Given the description of an element on the screen output the (x, y) to click on. 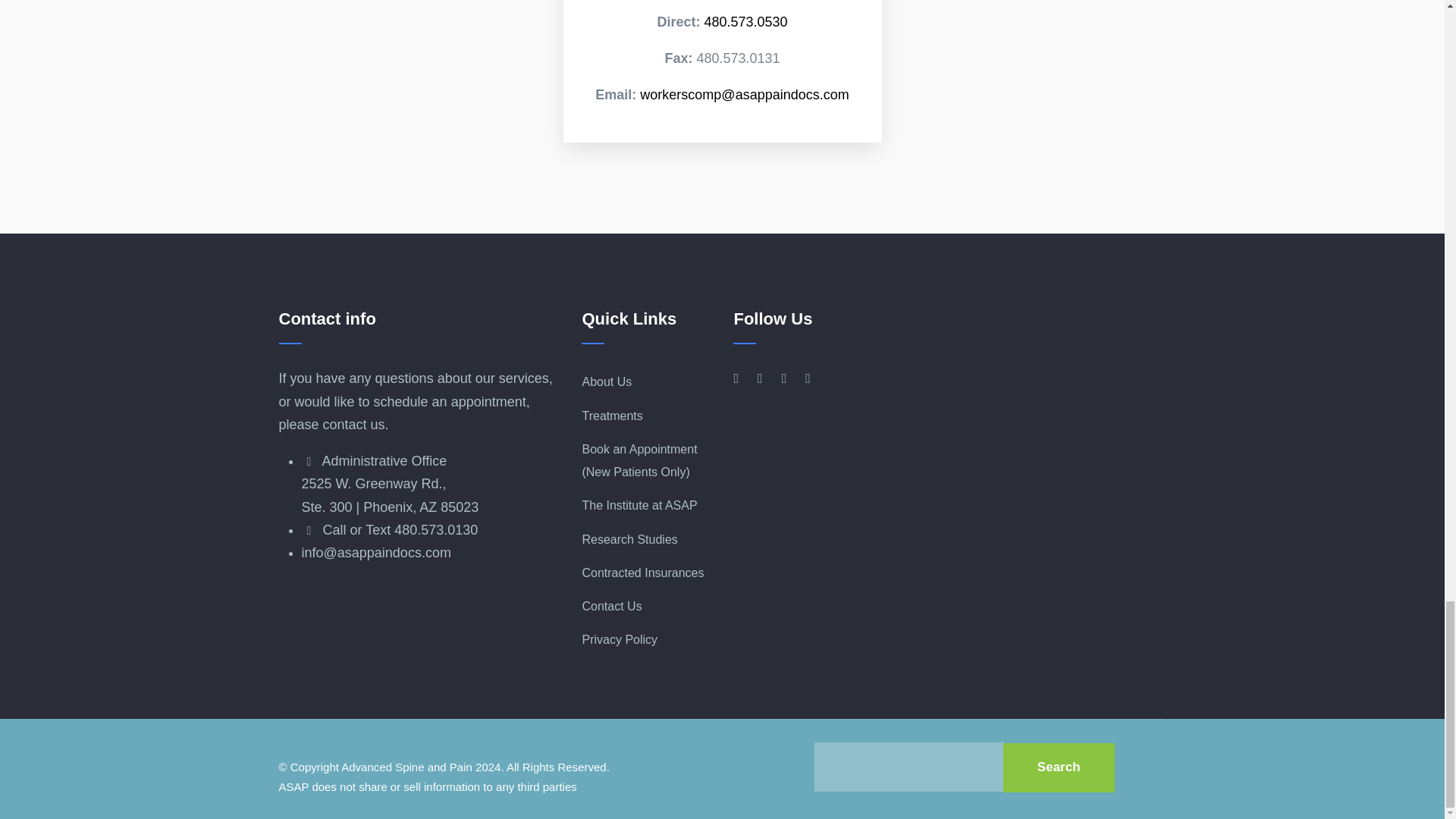
Enter the terms you wish to search for. (908, 766)
Search (1059, 767)
Search (1059, 767)
